Given the description of an element on the screen output the (x, y) to click on. 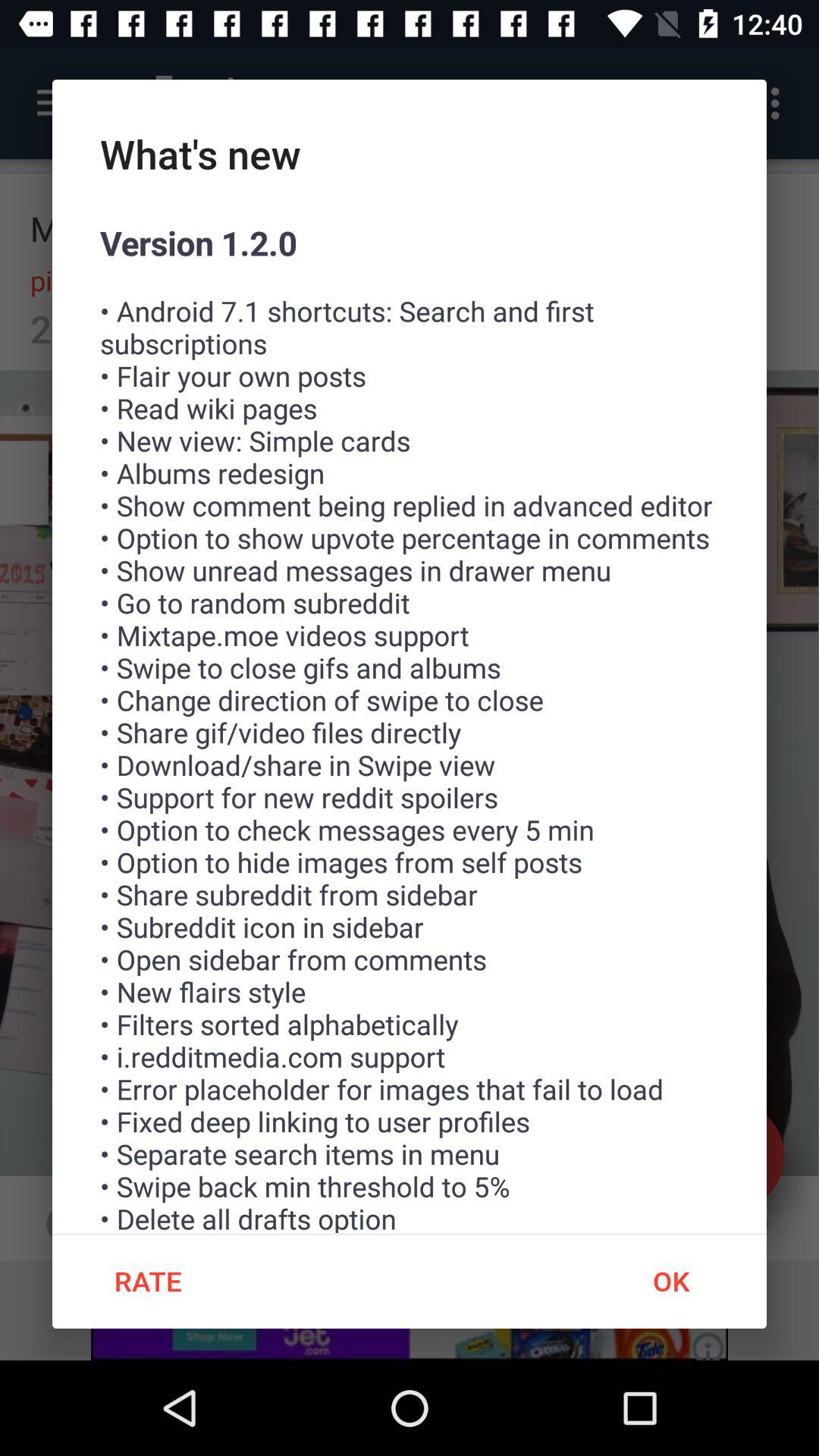
turn on item next to ok (147, 1280)
